Given the description of an element on the screen output the (x, y) to click on. 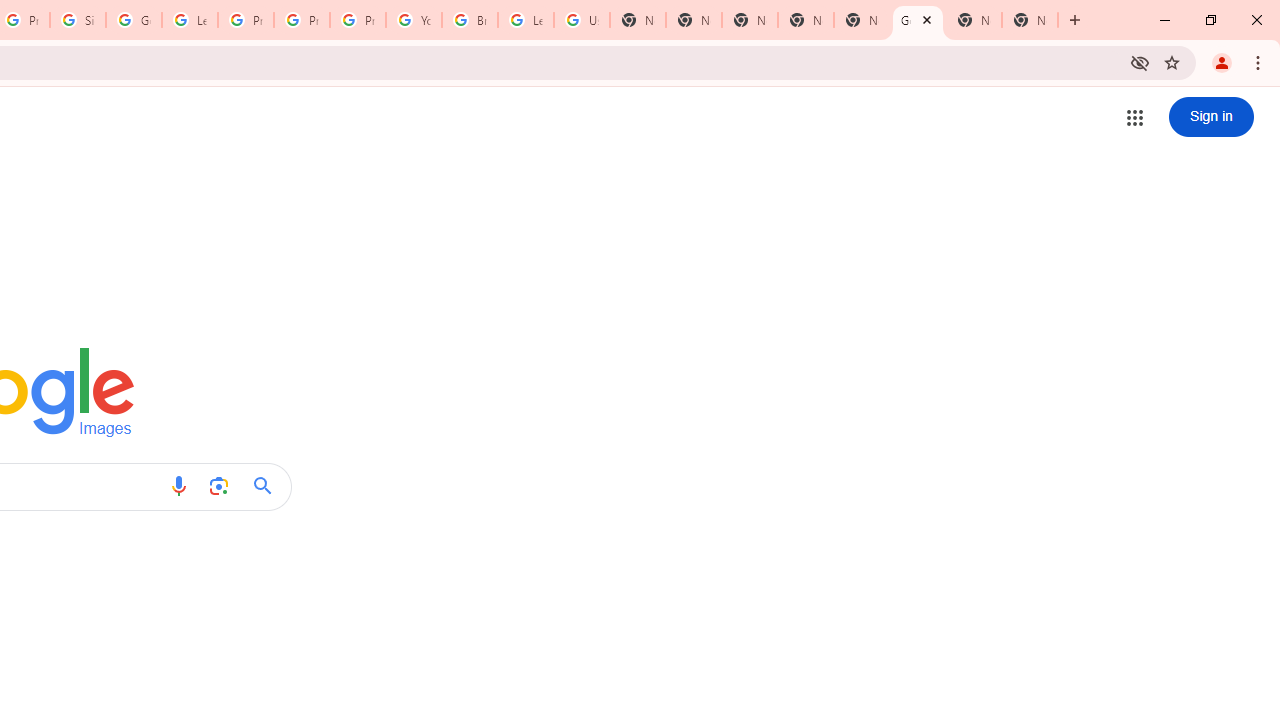
Sign in - Google Accounts (77, 20)
Privacy Help Center - Policies Help (301, 20)
New Tab (1030, 20)
New Tab (749, 20)
Google Search (268, 485)
